Given the description of an element on the screen output the (x, y) to click on. 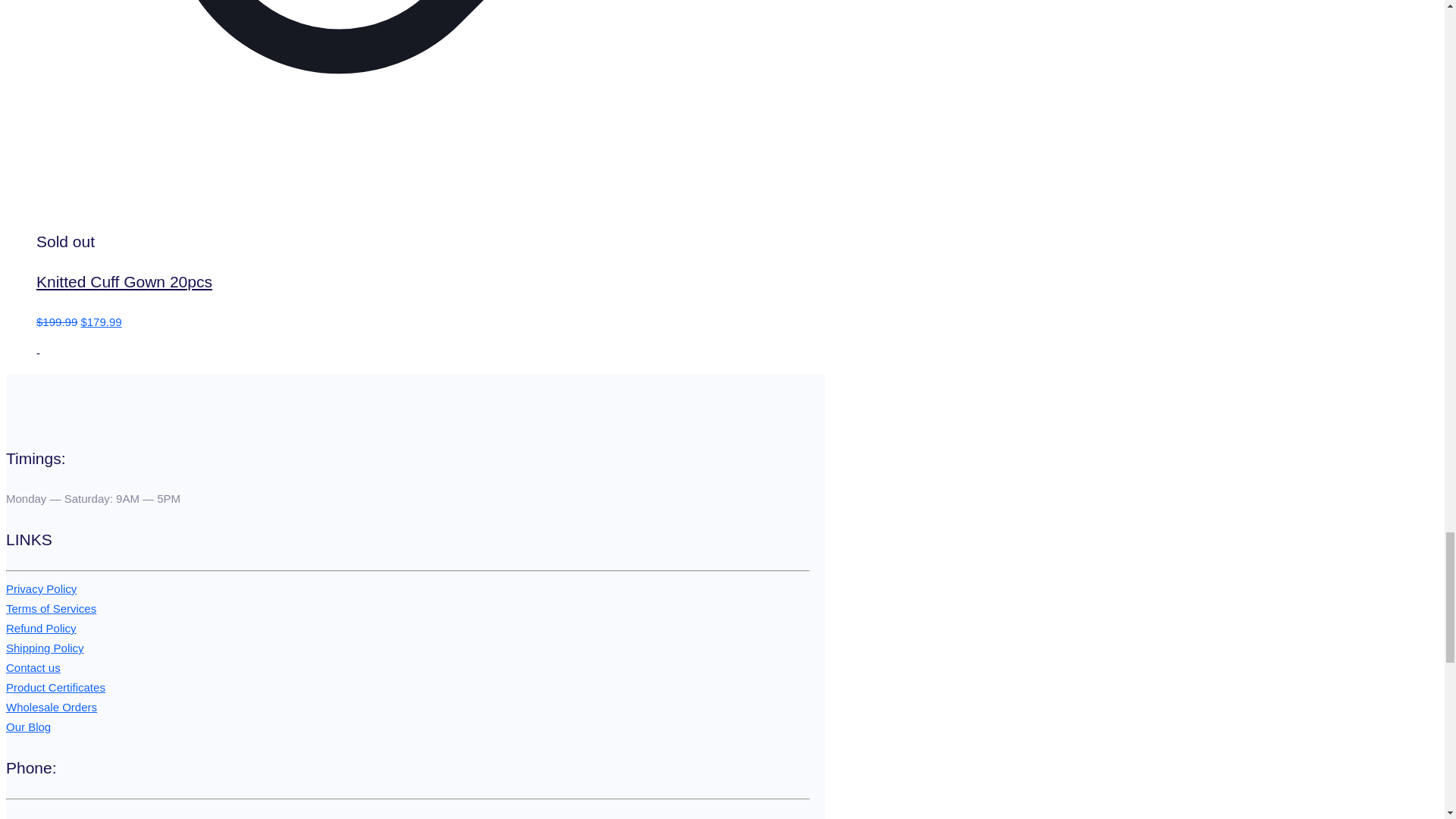
Knitted Cuff Gown 20pcs (124, 281)
